Given the description of an element on the screen output the (x, y) to click on. 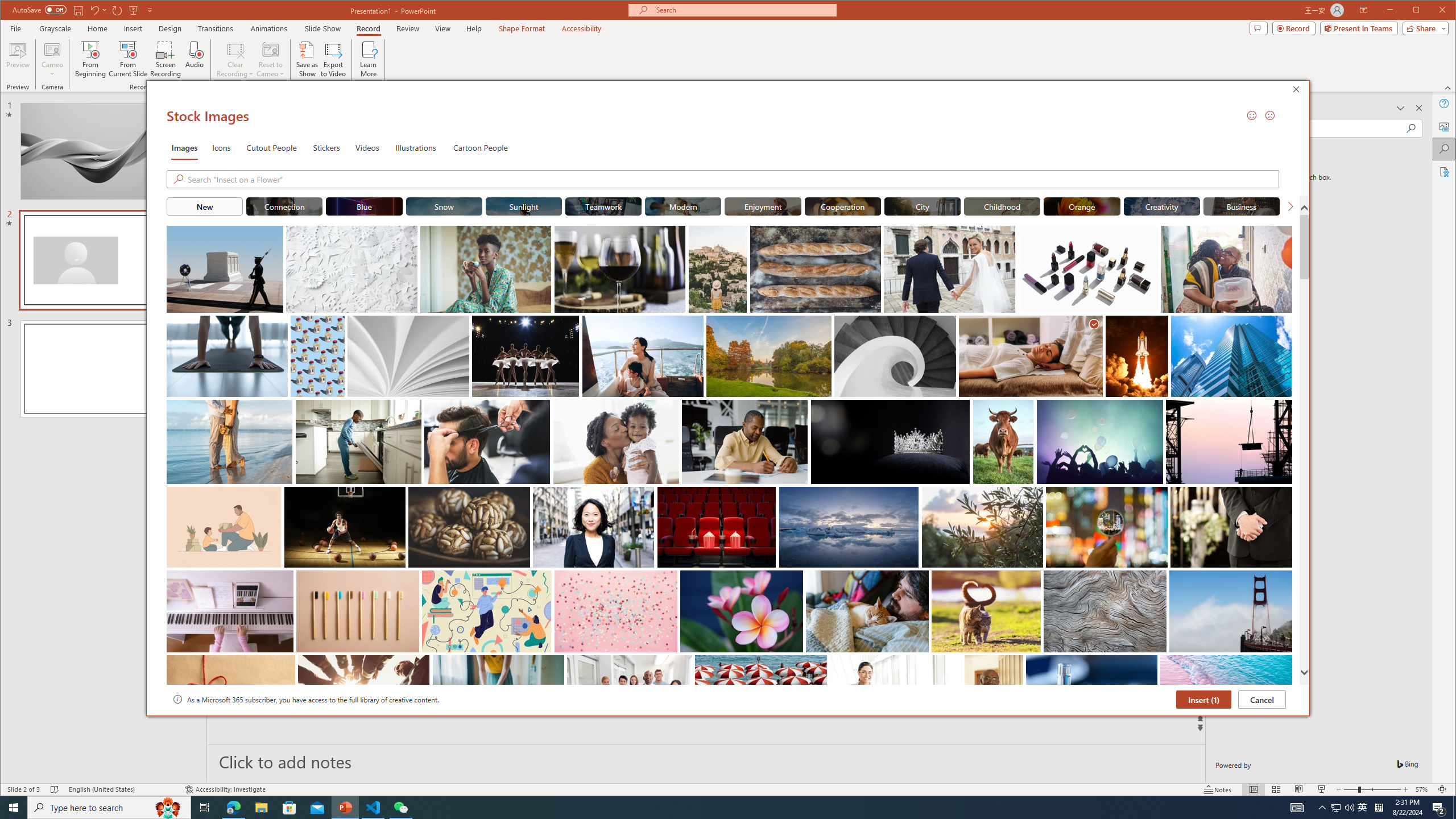
Images (183, 147)
Next Search Suggestion (1290, 206)
"Snow" Stock Images. (443, 206)
"City" Stock Images. (921, 206)
